Given the description of an element on the screen output the (x, y) to click on. 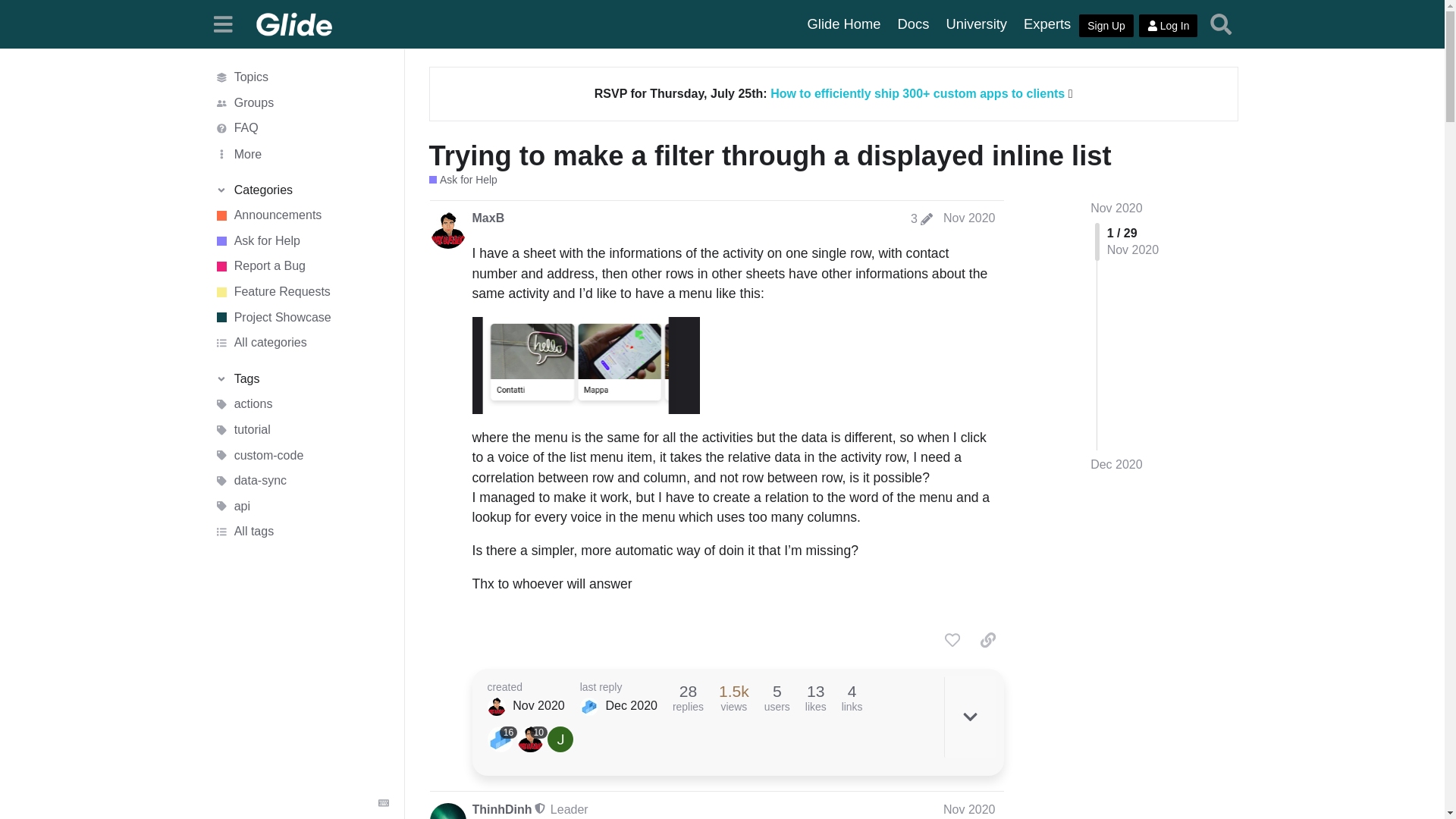
Dec 2020 (1116, 464)
Nov 2020 (969, 217)
Use this section to report any platform-related issues. (301, 266)
Glide Home (844, 23)
Search (1220, 23)
3 (921, 219)
FAQ (301, 128)
Trying to make a filter through a displayed inline list (770, 155)
Project Showcase (301, 317)
Go to the Glide website (844, 23)
data-sync (301, 481)
Categories (301, 190)
Log In (1168, 25)
Toggle section (301, 379)
